Given the description of an element on the screen output the (x, y) to click on. 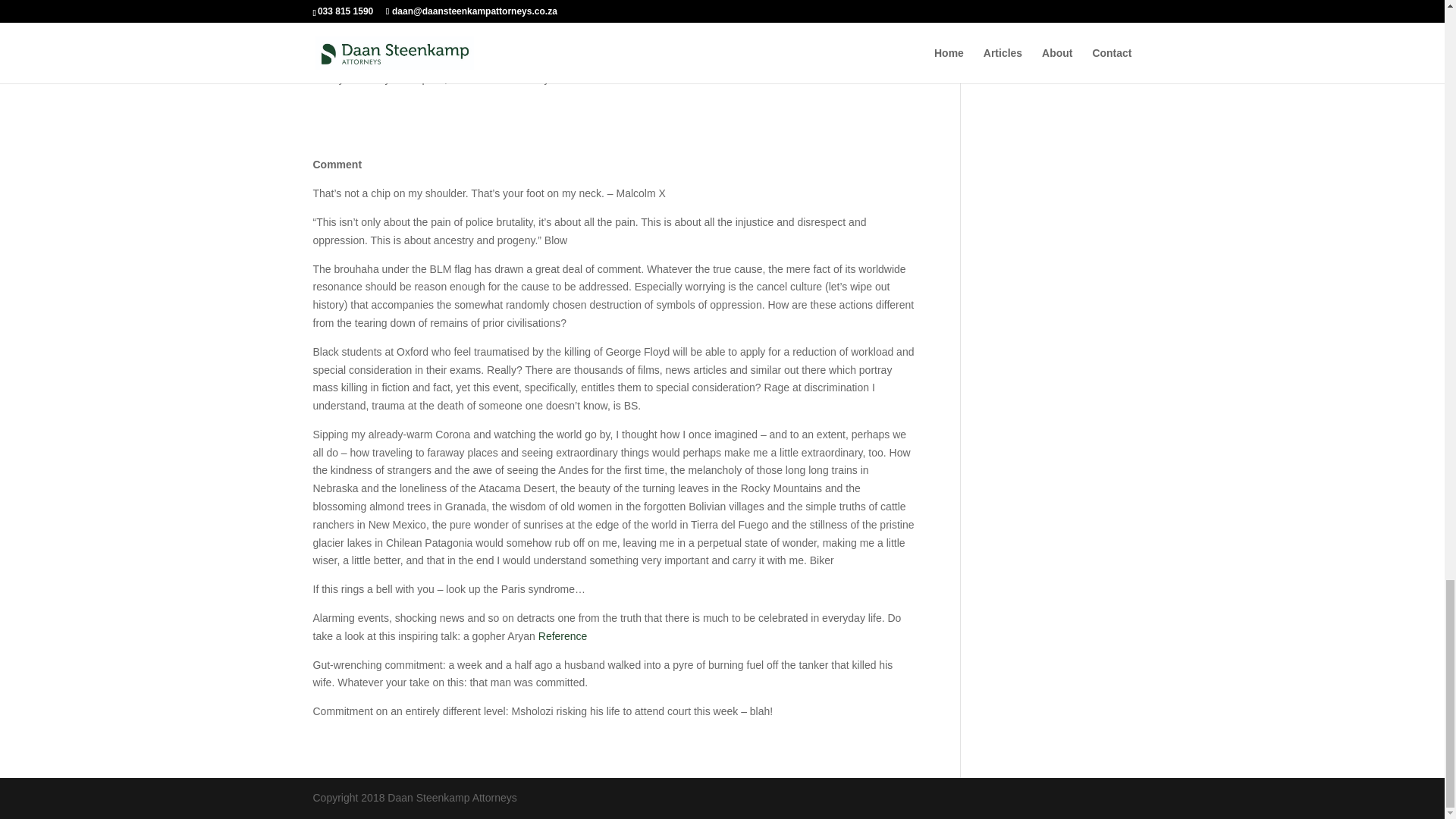
Reference (563, 635)
